Given the description of an element on the screen output the (x, y) to click on. 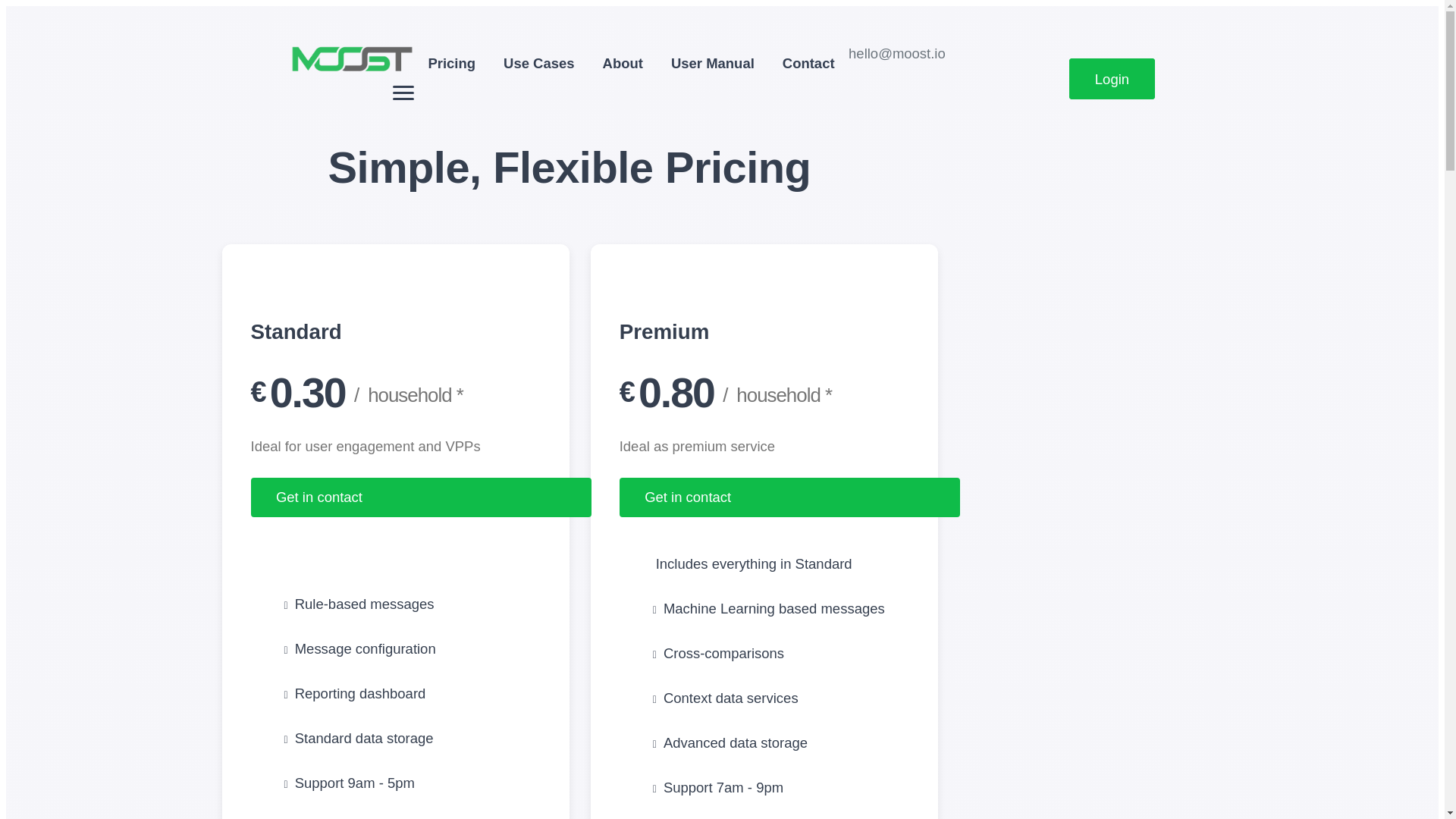
Contact (808, 63)
Get in contact (789, 496)
Use Cases (538, 63)
Get in contact (420, 496)
Login (1111, 78)
Home (351, 70)
Pricing (451, 63)
About (622, 63)
User Manual (712, 63)
